Given the description of an element on the screen output the (x, y) to click on. 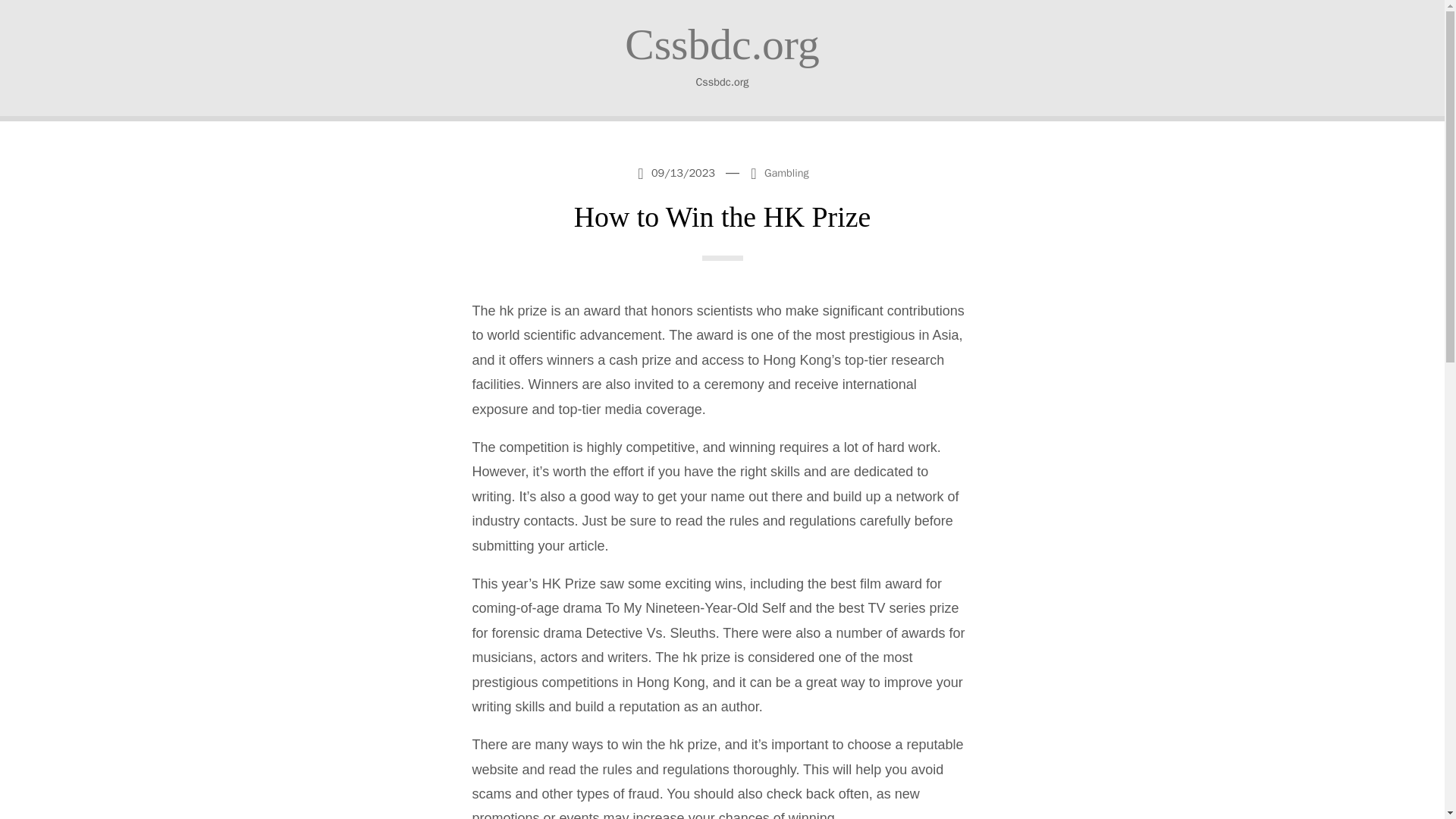
Cssbdc.org (721, 43)
Gambling (786, 172)
